Given the description of an element on the screen output the (x, y) to click on. 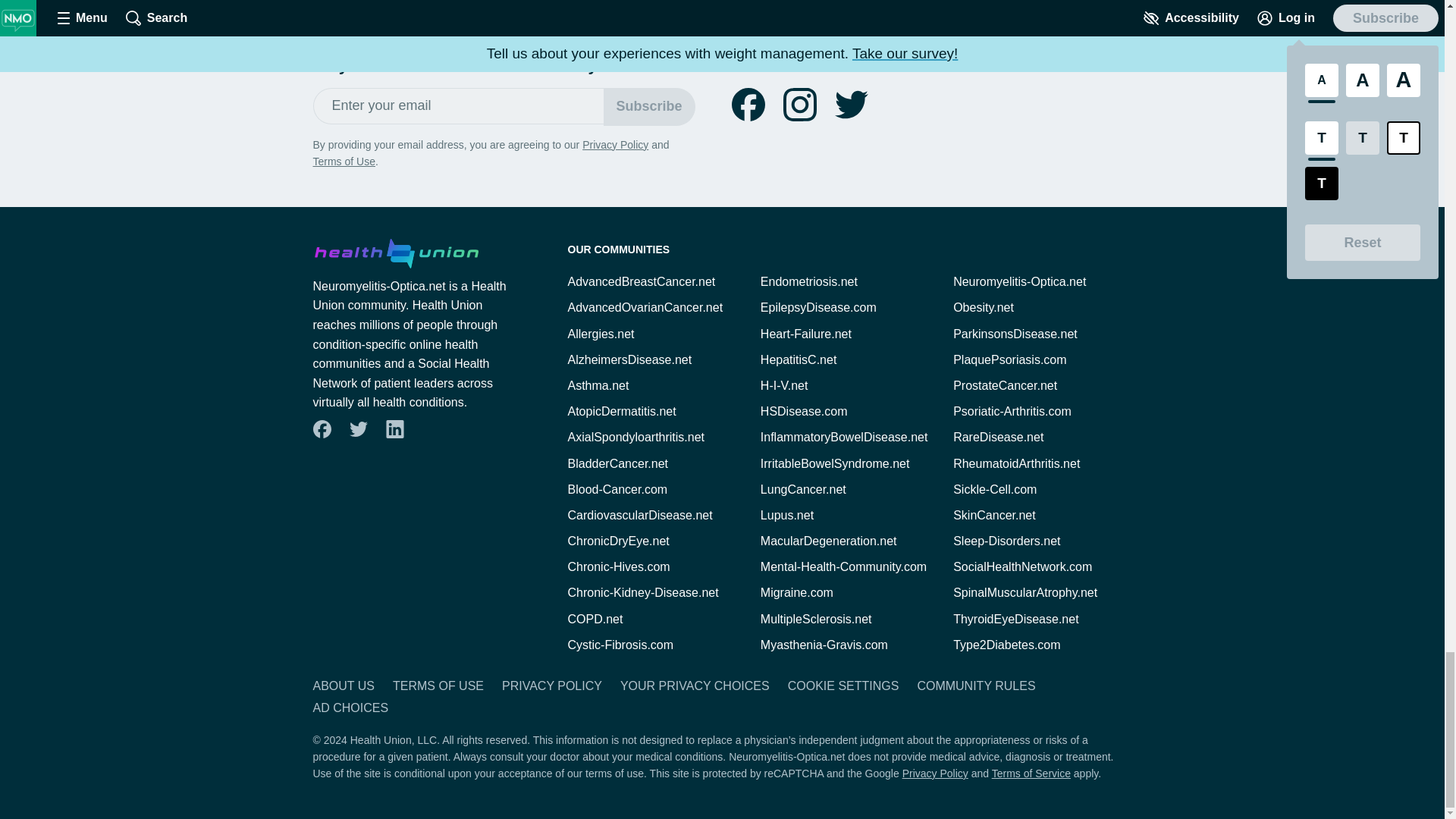
Follow us on twitter (850, 104)
Follow us on facebook (747, 104)
Follow us on instagram (799, 104)
